Given the description of an element on the screen output the (x, y) to click on. 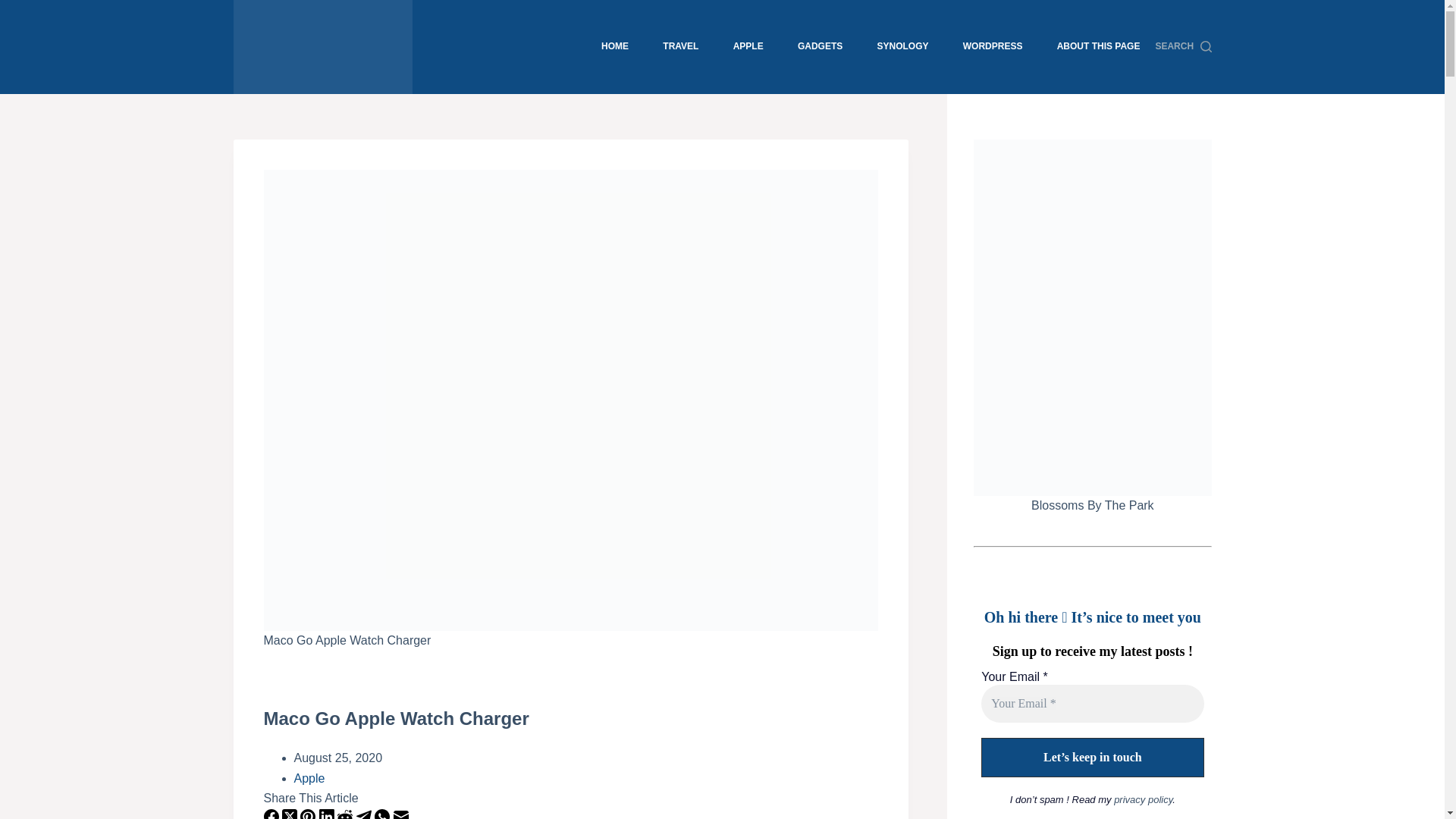
Skip to content (15, 7)
Maco Go Apple Watch Charger (570, 718)
SEARCH (1182, 46)
Apple (309, 778)
ABOUT THIS PAGE (1097, 47)
